Given the description of an element on the screen output the (x, y) to click on. 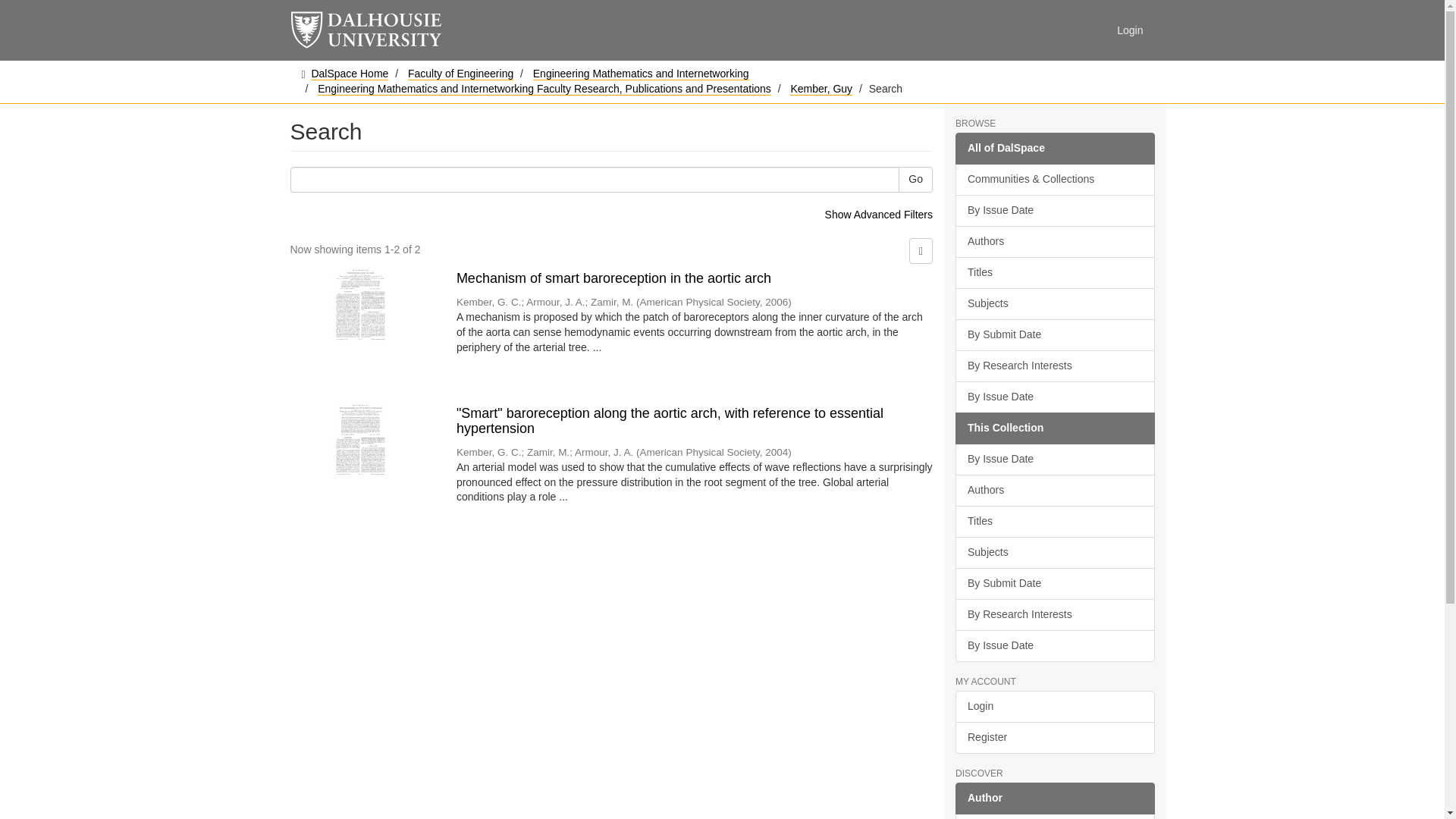
Show Advanced Filters (879, 214)
Mechanism of smart baroreception in the aortic arch  (695, 278)
Go (915, 179)
Engineering Mathematics and Internetworking (640, 73)
Kember, Guy (820, 88)
Faculty of Engineering (460, 73)
DalSpace Home (349, 73)
